Given the description of an element on the screen output the (x, y) to click on. 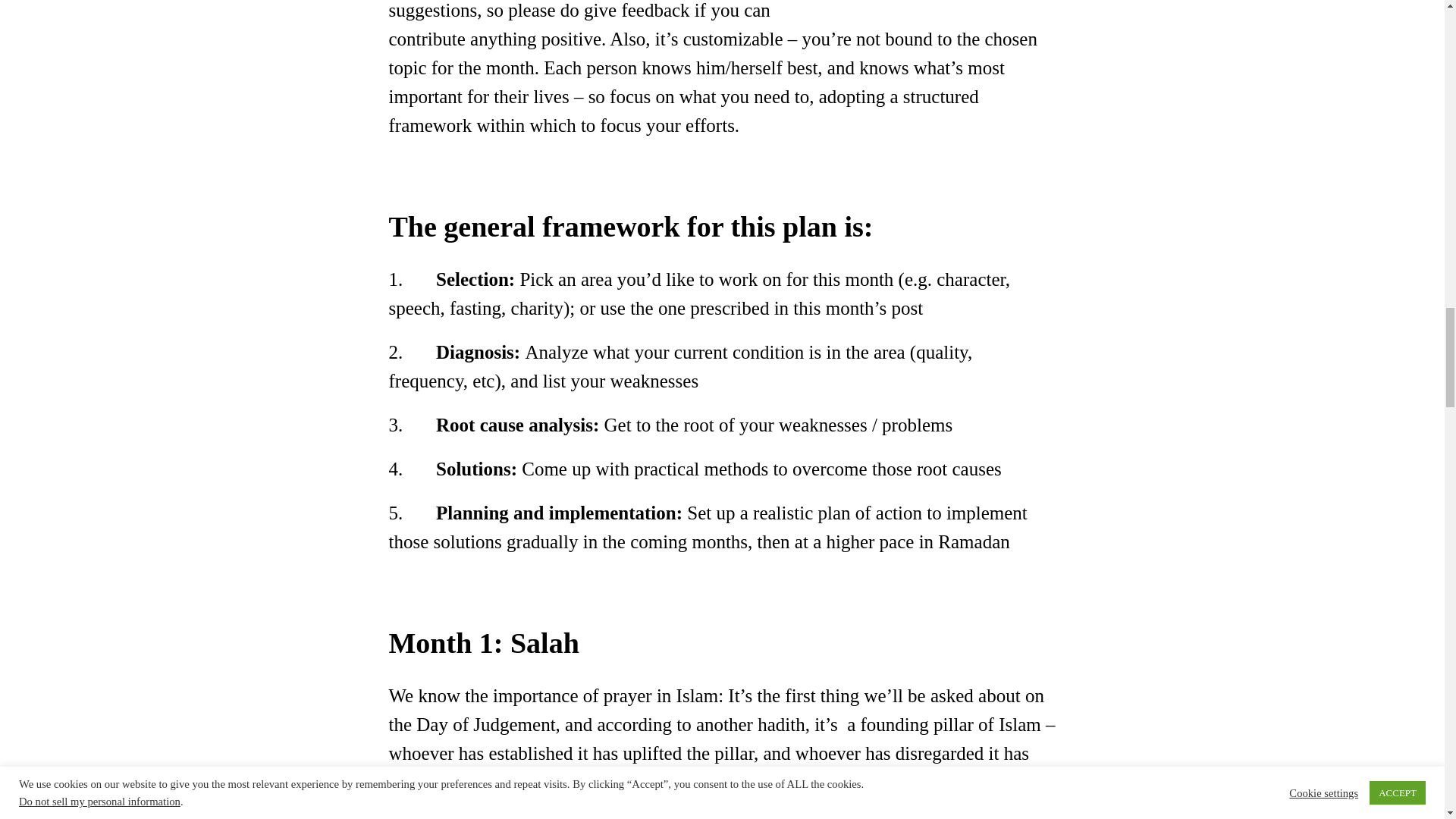
prepare (938, 2)
preparation (729, 817)
